Given the description of an element on the screen output the (x, y) to click on. 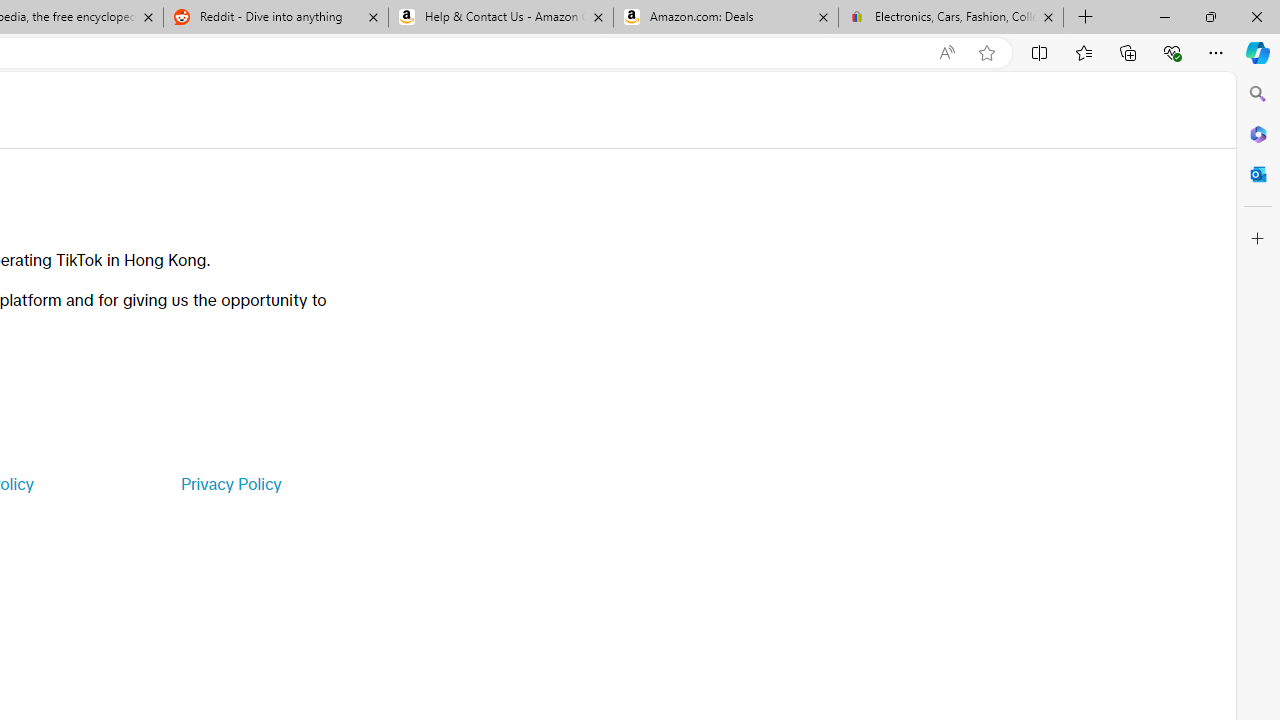
Help & Contact Us - Amazon Customer Service (501, 17)
